Given the description of an element on the screen output the (x, y) to click on. 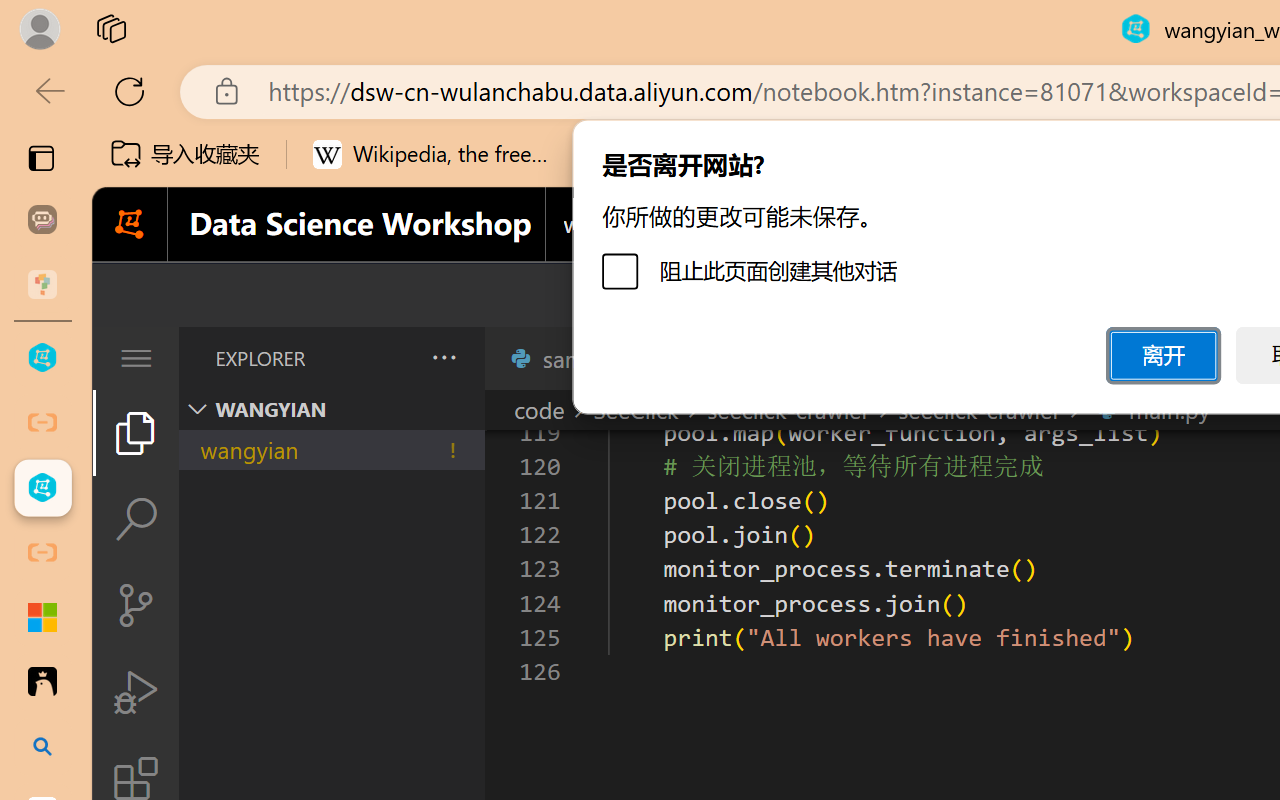
wangyian_webcrawler - DSW (42, 487)
Class: menubar compact overflow-menu-only (135, 358)
Views and More Actions... (442, 357)
Application Menu (135, 358)
Run and Debug (Ctrl+Shift+D) (135, 692)
Explorer (Ctrl+Shift+E) (135, 432)
Adjust indents and spacing - Microsoft Support (42, 617)
Search (Ctrl+Shift+F) (135, 519)
